Given the description of an element on the screen output the (x, y) to click on. 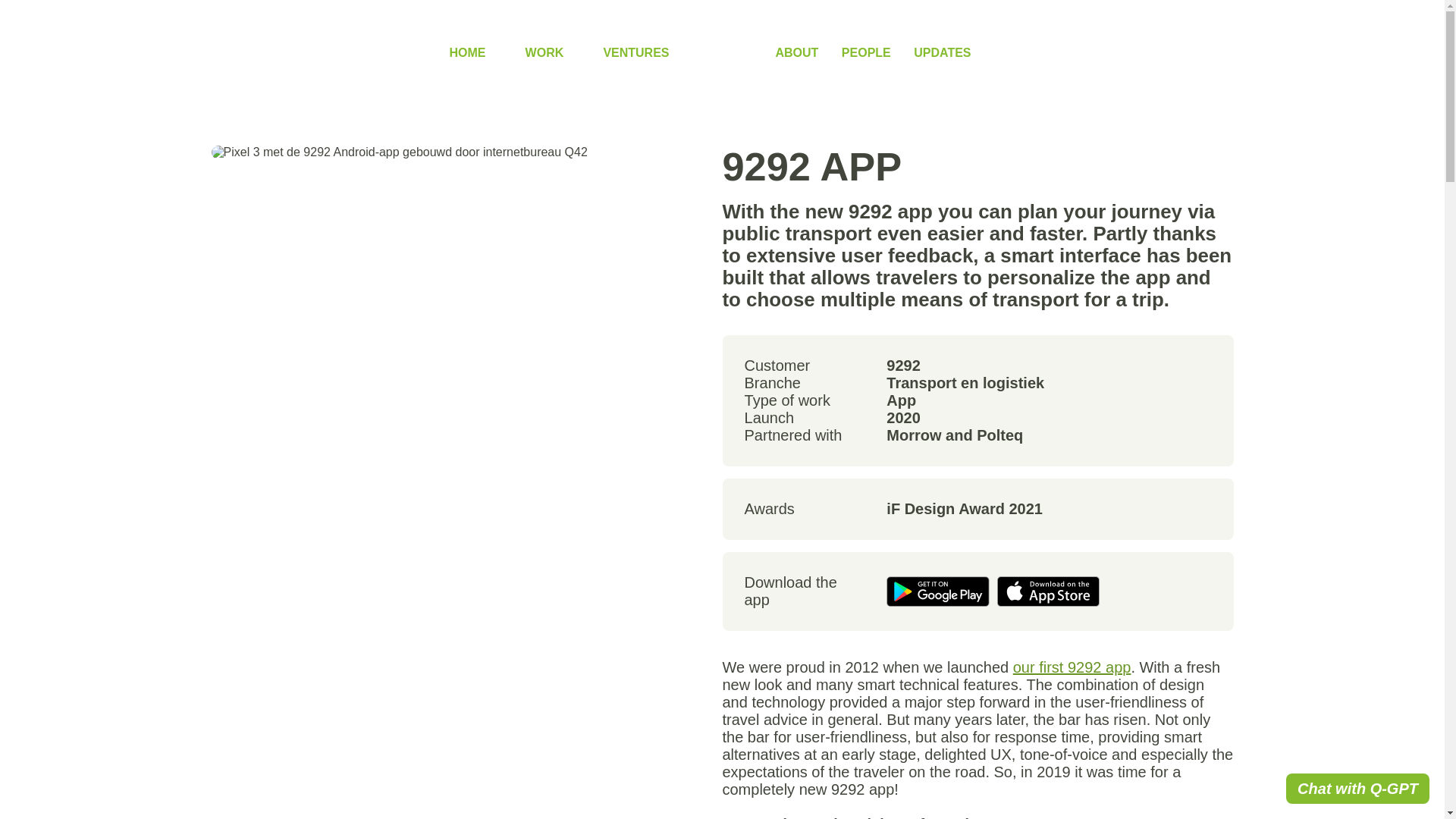
WORK (544, 51)
Chat with Q-GPT (1357, 788)
our first 9292 app (1072, 667)
VENTURES (635, 51)
PEOPLE (866, 51)
HOME (466, 51)
UPDATES (942, 51)
ABOUT (796, 51)
